Given the description of an element on the screen output the (x, y) to click on. 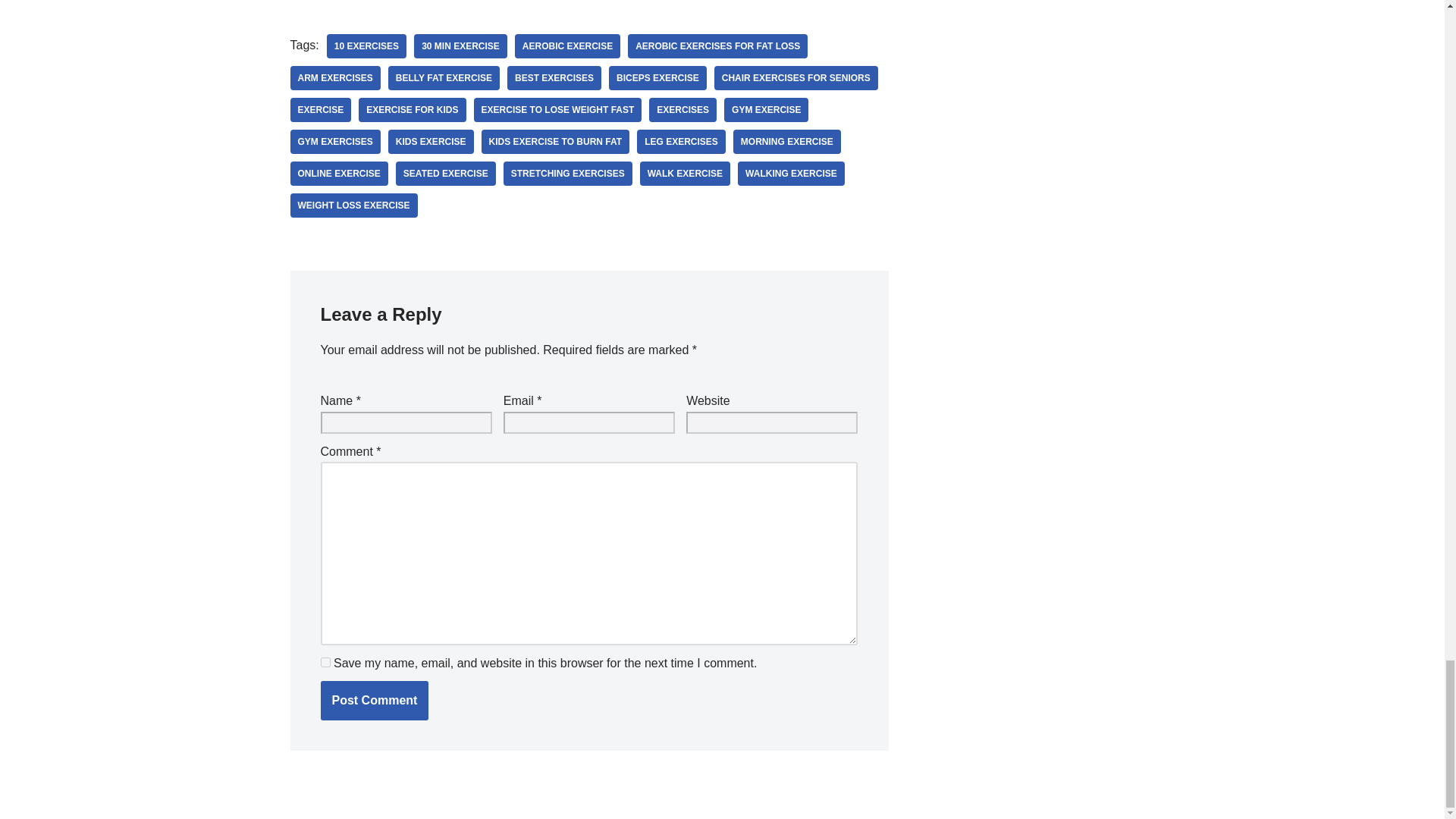
EXERCISE TO LOSE WEIGHT FAST (558, 109)
GYM EXERCISES (334, 141)
Post Comment (374, 700)
aerobic exercises for fat loss (717, 46)
exercises (682, 109)
aerobic exercise (567, 46)
AEROBIC EXERCISE (567, 46)
biceps exercise (657, 78)
chair exercises for seniors (795, 78)
GYM EXERCISE (765, 109)
